Given the description of an element on the screen output the (x, y) to click on. 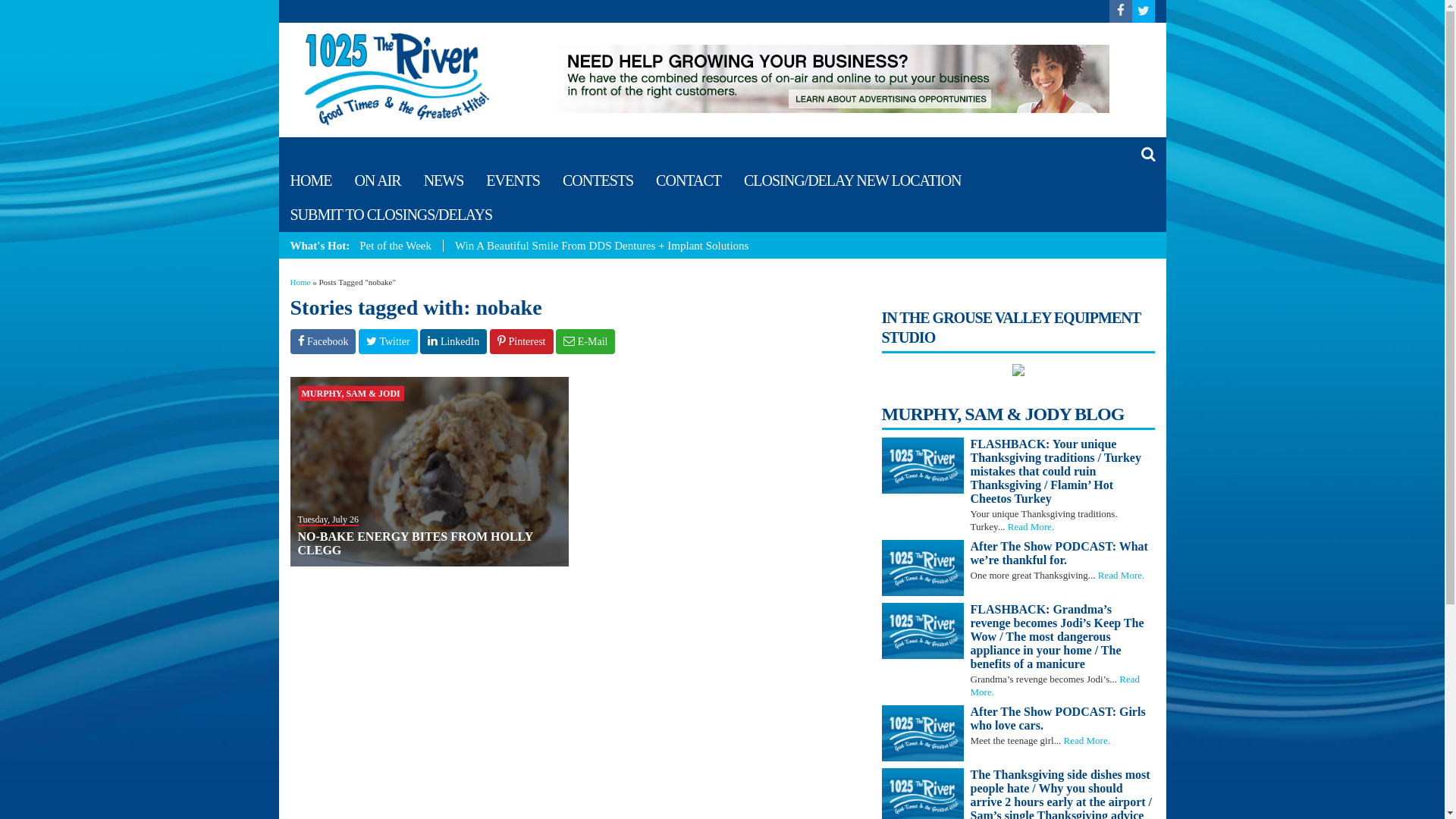
NEWS Element type: text (443, 180)
After The Show PODCAST: Girls who love cars. Element type: text (1062, 718)
Pinterest Element type: text (521, 341)
Read More. Element type: text (1030, 526)
ON AIR Element type: text (376, 180)
Read More. Element type: text (1054, 685)
HOME Element type: text (311, 180)
CONTACT Element type: text (688, 180)
SUBMIT TO CLOSINGS/DELAYS Element type: text (391, 214)
Facebook Element type: text (322, 341)
Pet of the Week Element type: text (399, 245)
NO-BAKE ENERGY BITES FROM HOLLY CLEGG Element type: text (414, 543)
Read More. Element type: text (1121, 574)
CLOSING/DELAY NEW LOCATION Element type: text (852, 180)
1025 The River Element type: hover (396, 78)
MURPHY, SAM & JODI Element type: text (350, 393)
Read More. Element type: text (1086, 740)
Win A Beautiful Smile From DDS Dentures + Implant Solutions Element type: text (601, 245)
CONTESTS Element type: text (597, 180)
LinkedIn Element type: text (453, 341)
Home Element type: text (299, 281)
Tuesday, July 26 Element type: text (327, 519)
E-Mail Element type: text (585, 341)
Twitter Element type: text (387, 341)
EVENTS Element type: text (512, 180)
